Given the description of an element on the screen output the (x, y) to click on. 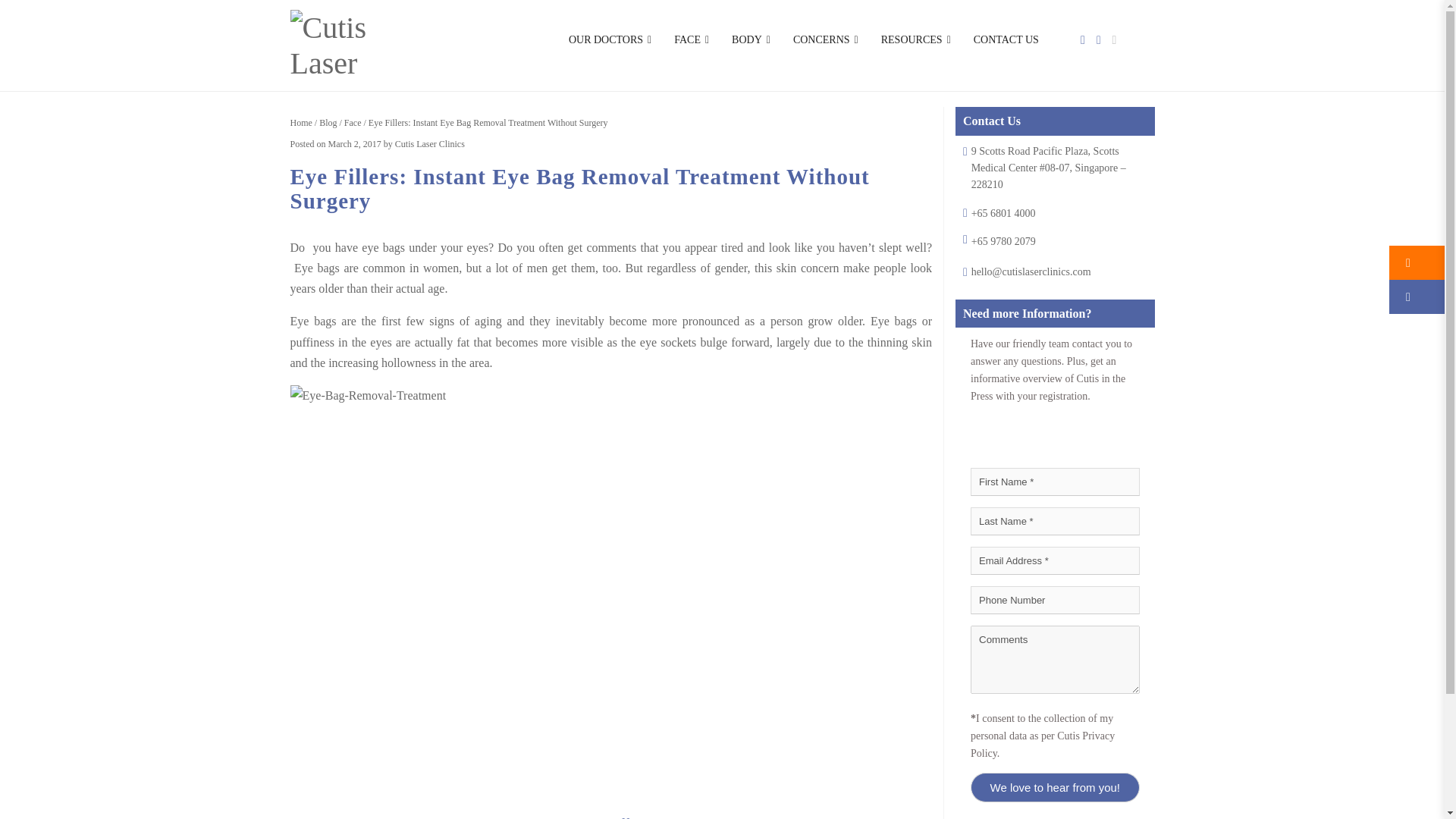
OUR DOCTORS (609, 39)
FACE (691, 39)
We love to hear from you! (1055, 787)
